Given the description of an element on the screen output the (x, y) to click on. 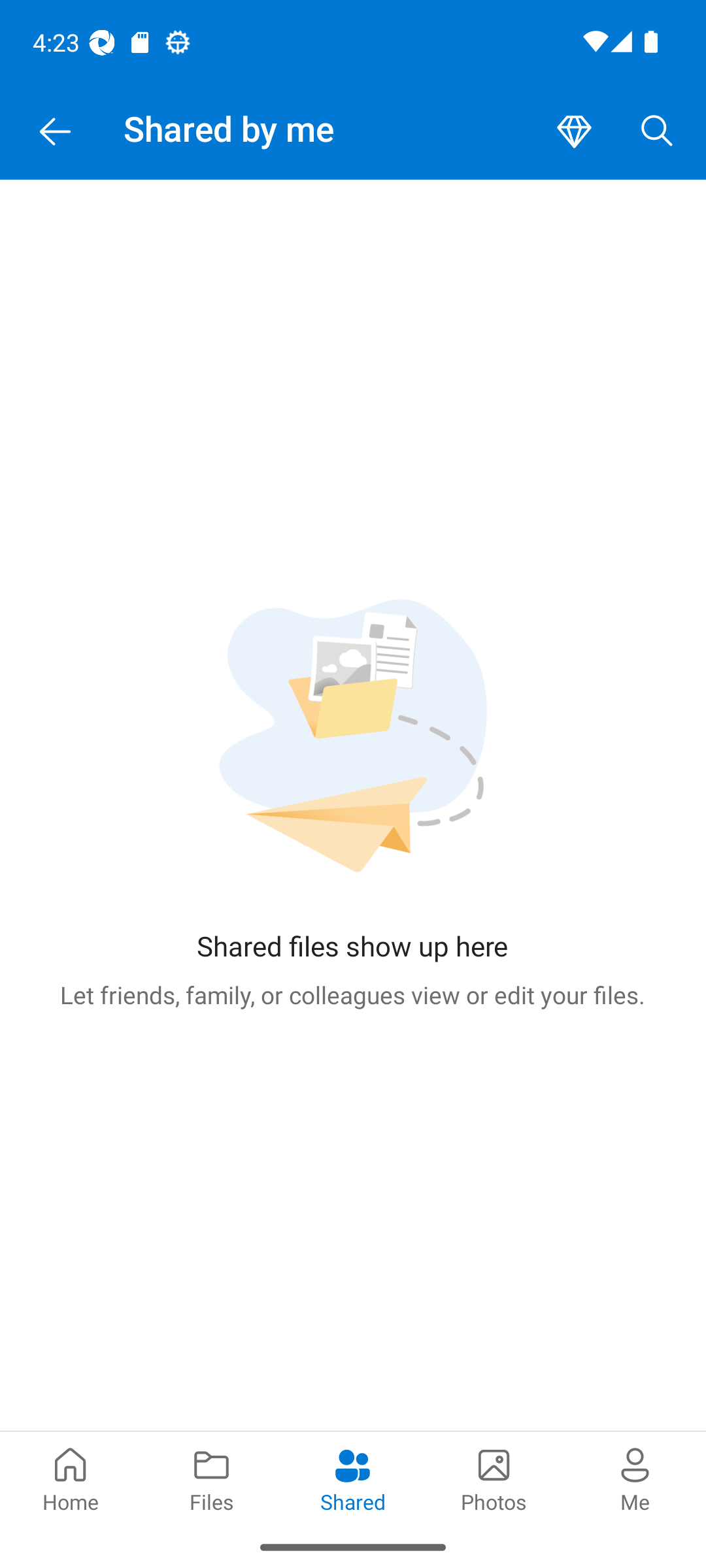
Navigate Up (55, 131)
Premium button (574, 131)
Search button (656, 131)
Home pivot Home (70, 1478)
Files pivot Files (211, 1478)
Photos pivot Photos (493, 1478)
Me pivot Me (635, 1478)
